Given the description of an element on the screen output the (x, y) to click on. 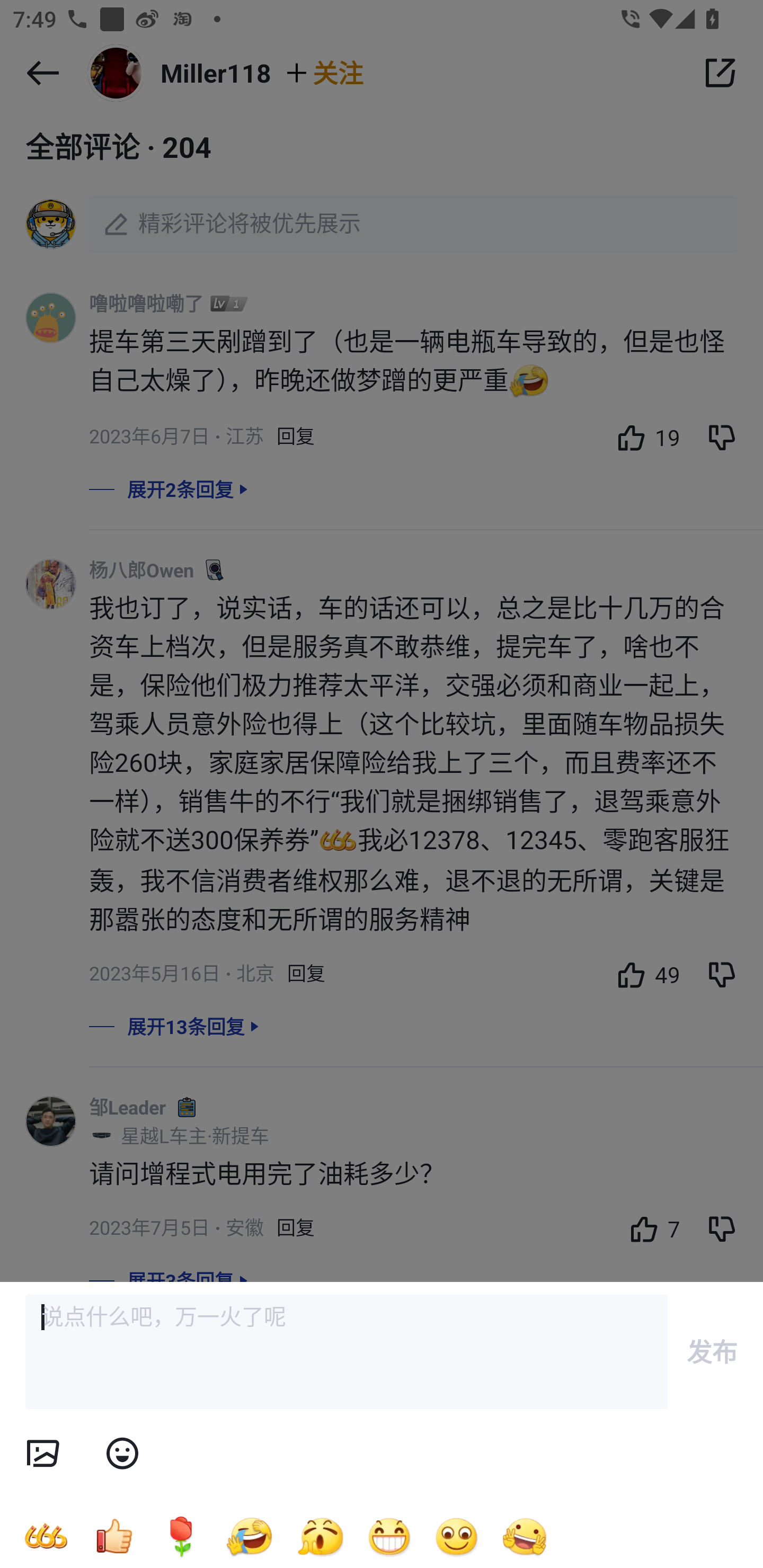
说点什么吧，万一火了呢 (346, 1352)
发布 (711, 1351)
 (42, 1453)
 (122, 1453)
[666] (45, 1535)
[赞] (112, 1535)
[玫瑰] (180, 1535)
[我想静静] (249, 1535)
[小鼓掌] (320, 1535)
[呲牙] (389, 1535)
[微笑] (456, 1535)
[耶] (524, 1535)
